Given the description of an element on the screen output the (x, y) to click on. 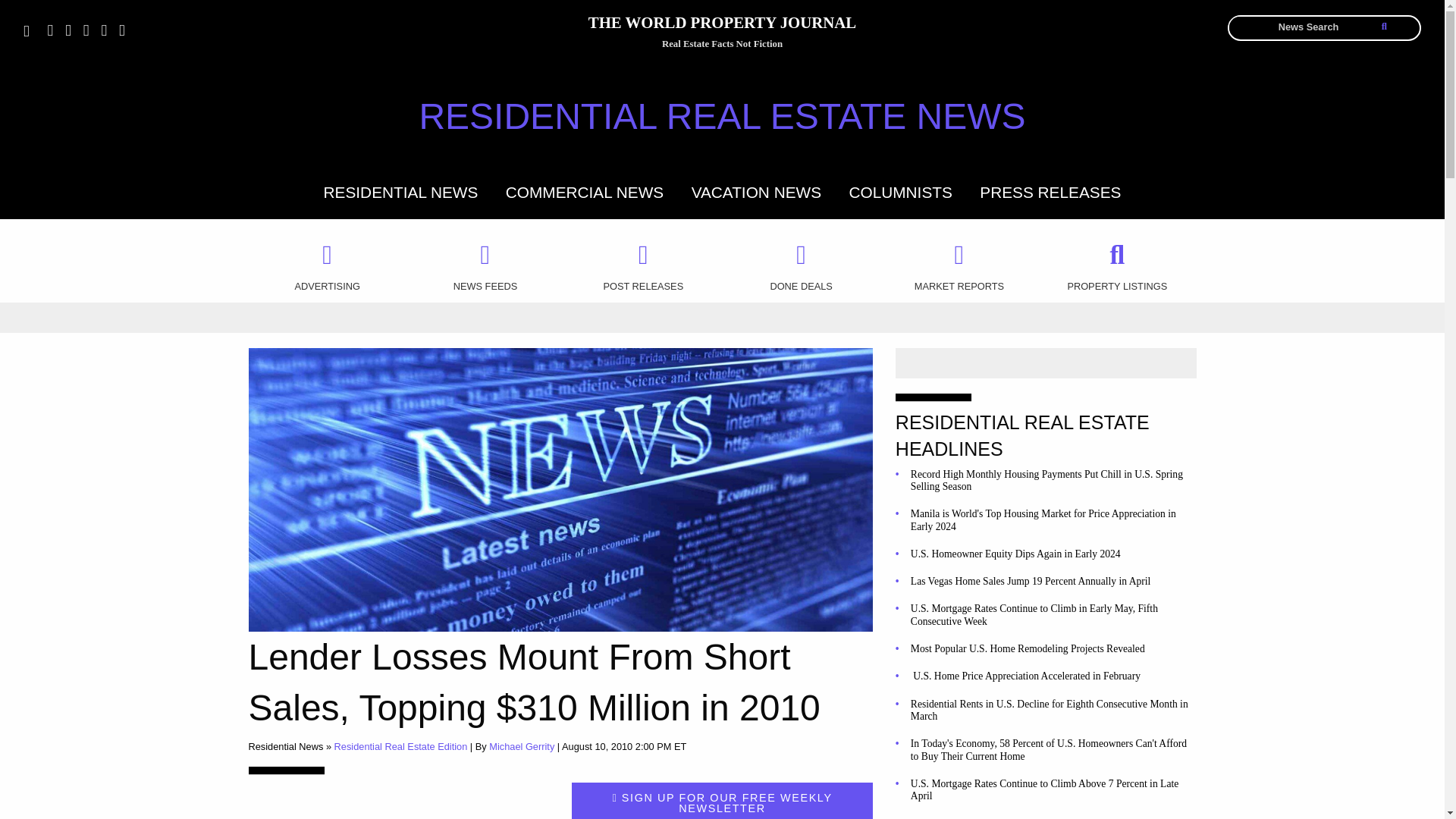
COMMERCIAL NEWS (584, 191)
PRESS RELEASES (1050, 191)
THE WORLD PROPERTY JOURNAL (721, 25)
RESIDENTIAL NEWS (401, 191)
COLUMNISTS (900, 191)
VACATION NEWS (756, 191)
